Given the description of an element on the screen output the (x, y) to click on. 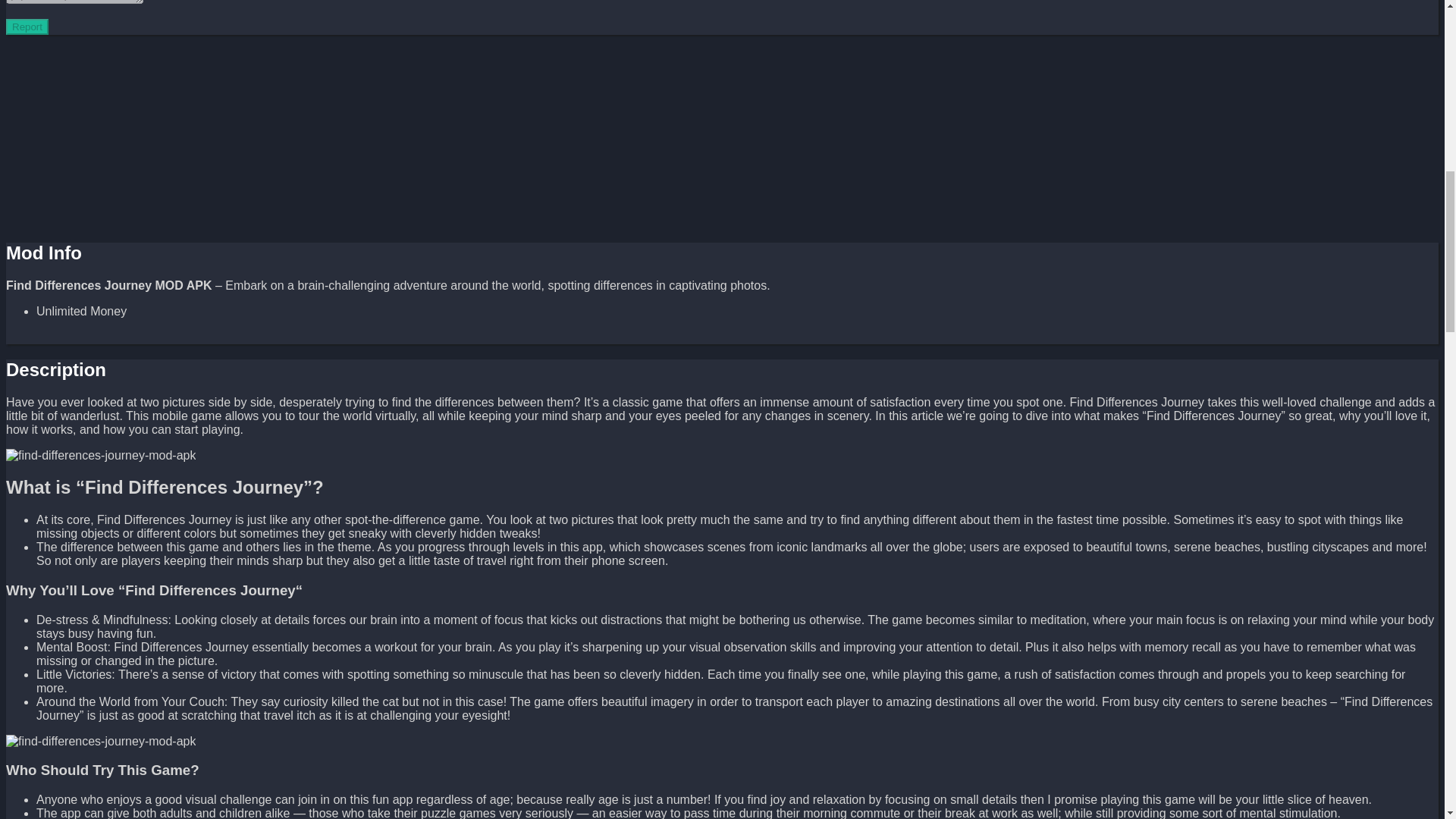
Report (26, 26)
Find Differences Journey 3 (100, 741)
Find Differences Journey 2 (100, 455)
Report (26, 26)
